Given the description of an element on the screen output the (x, y) to click on. 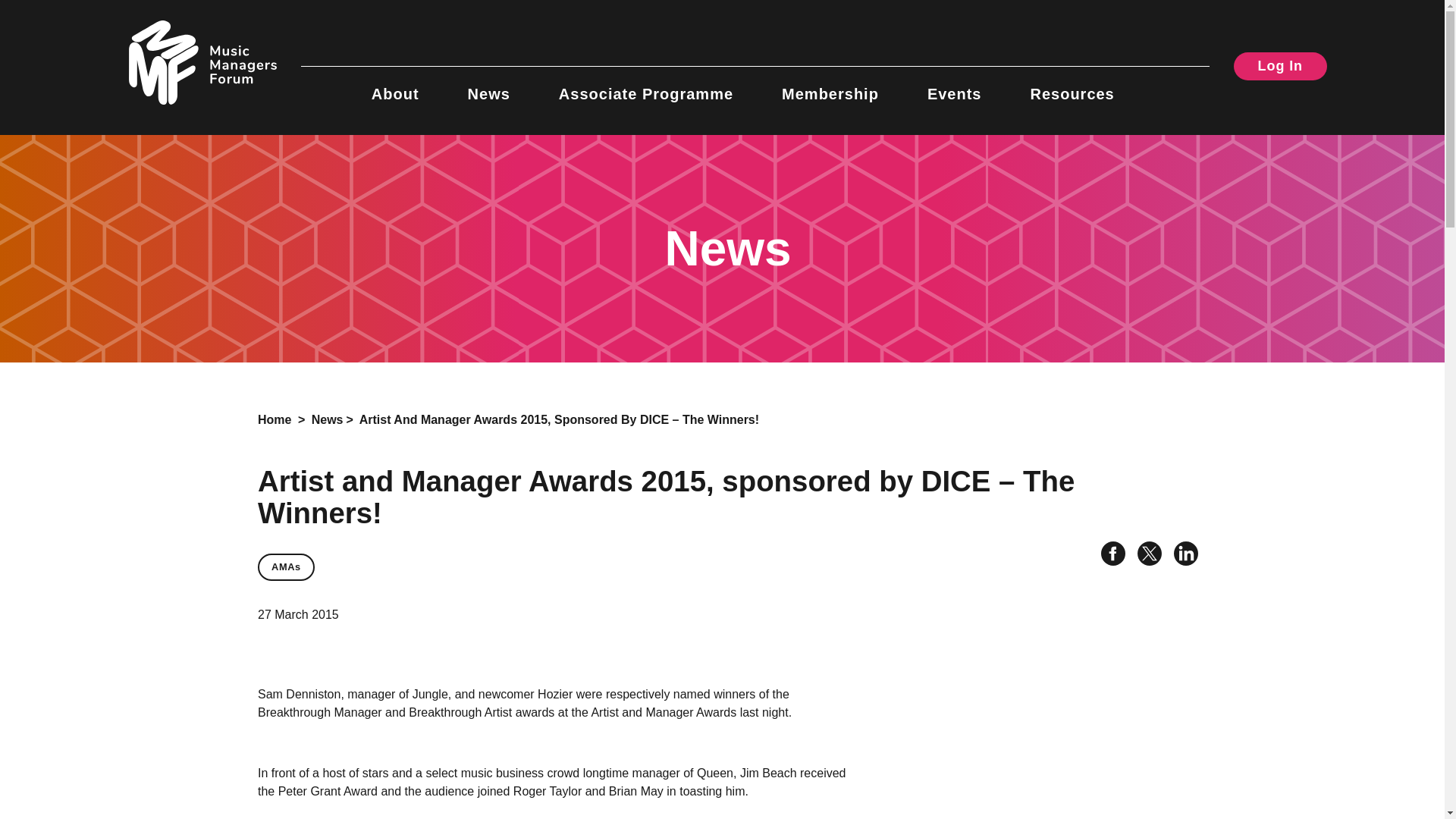
AMAs (285, 566)
Home (274, 419)
Share on facebook (1107, 555)
Events (954, 85)
Log In (1279, 66)
Resources (1071, 85)
News (489, 85)
About (395, 85)
Membership (830, 85)
Share on linked in (1179, 555)
